Given the description of an element on the screen output the (x, y) to click on. 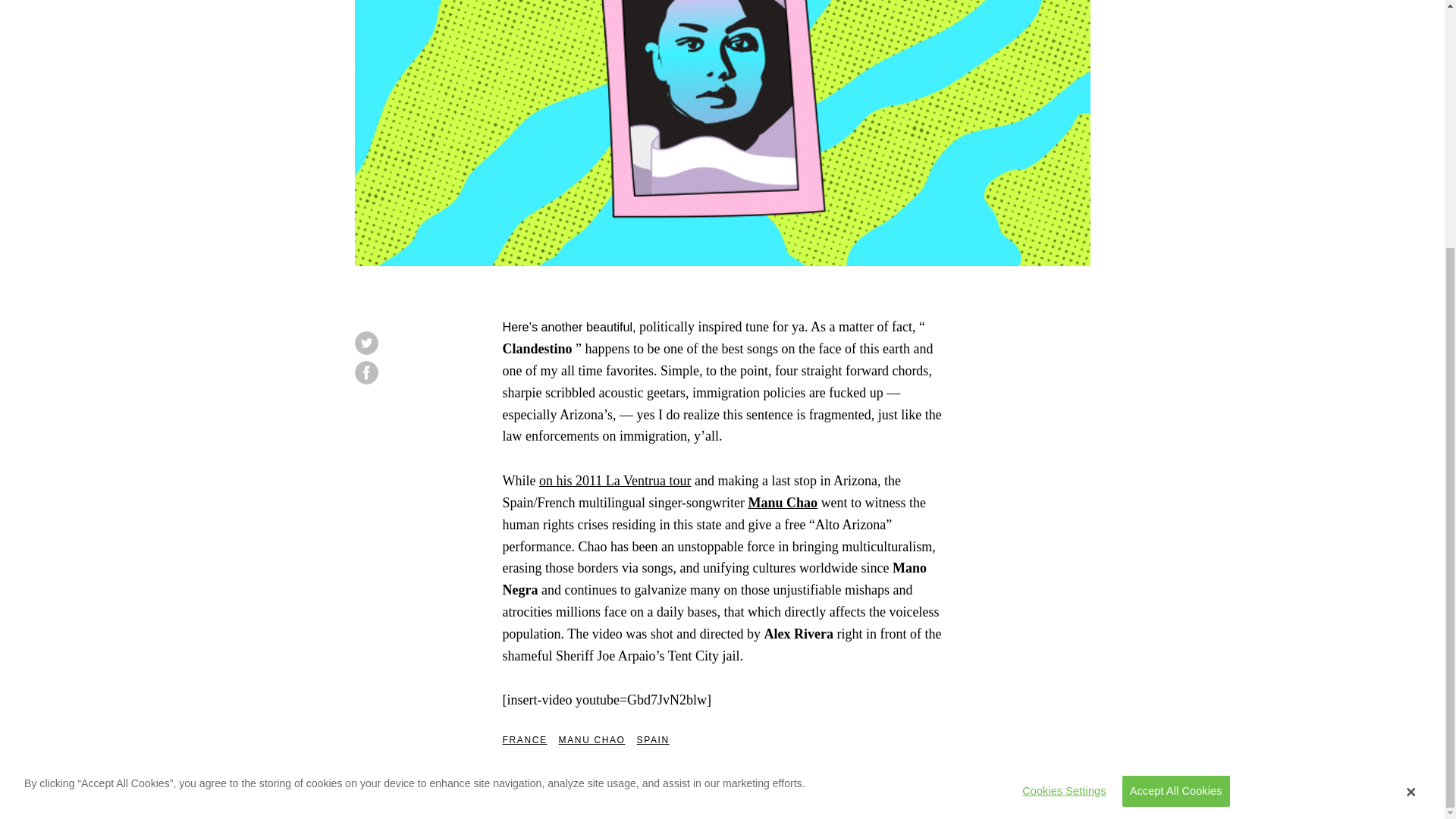
on his 2011 La Ventrua tour (614, 480)
Manu Chao (783, 502)
FRANCE (524, 739)
